Given the description of an element on the screen output the (x, y) to click on. 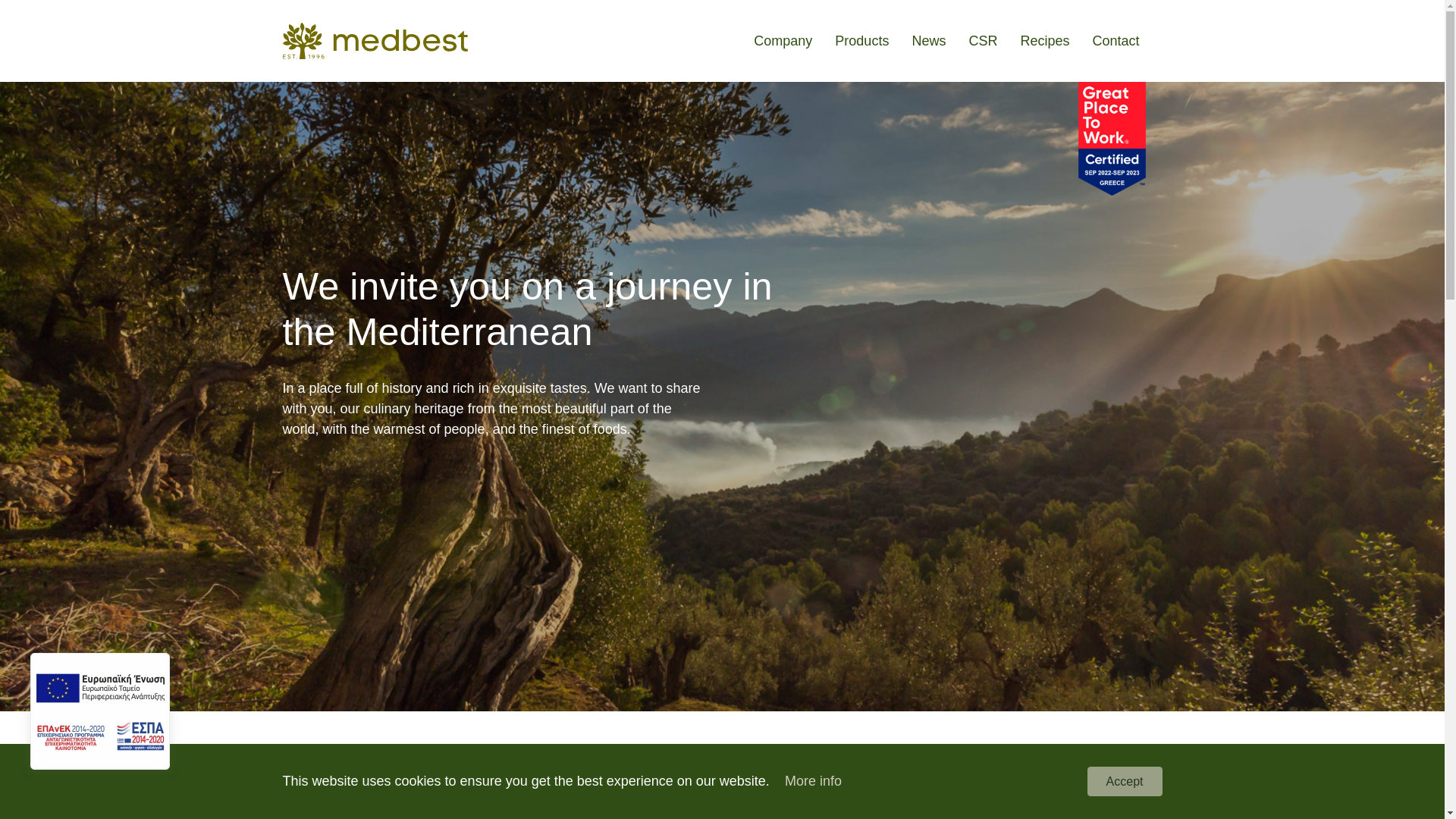
More info (812, 780)
CSR (982, 40)
Contact (1115, 40)
News (927, 40)
Recipes (1044, 40)
Company (783, 40)
Products (861, 40)
homepage (374, 40)
Accept (1124, 781)
